Given the description of an element on the screen output the (x, y) to click on. 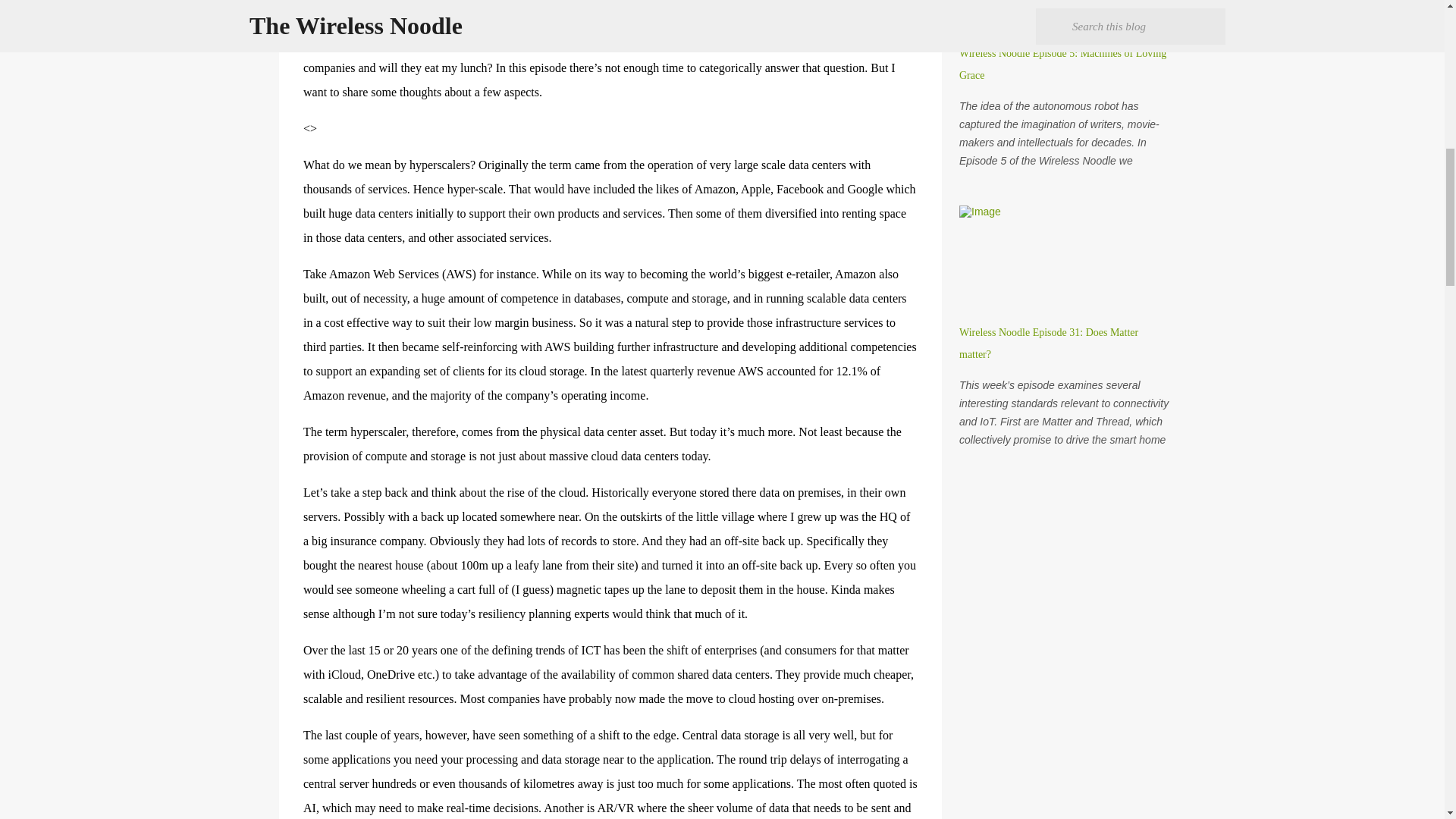
Wireless Noodle Episode 5: Machines of Loving Grace (1062, 64)
Wireless Noodle Episode 31: Does Matter matter? (1048, 343)
